Given the description of an element on the screen output the (x, y) to click on. 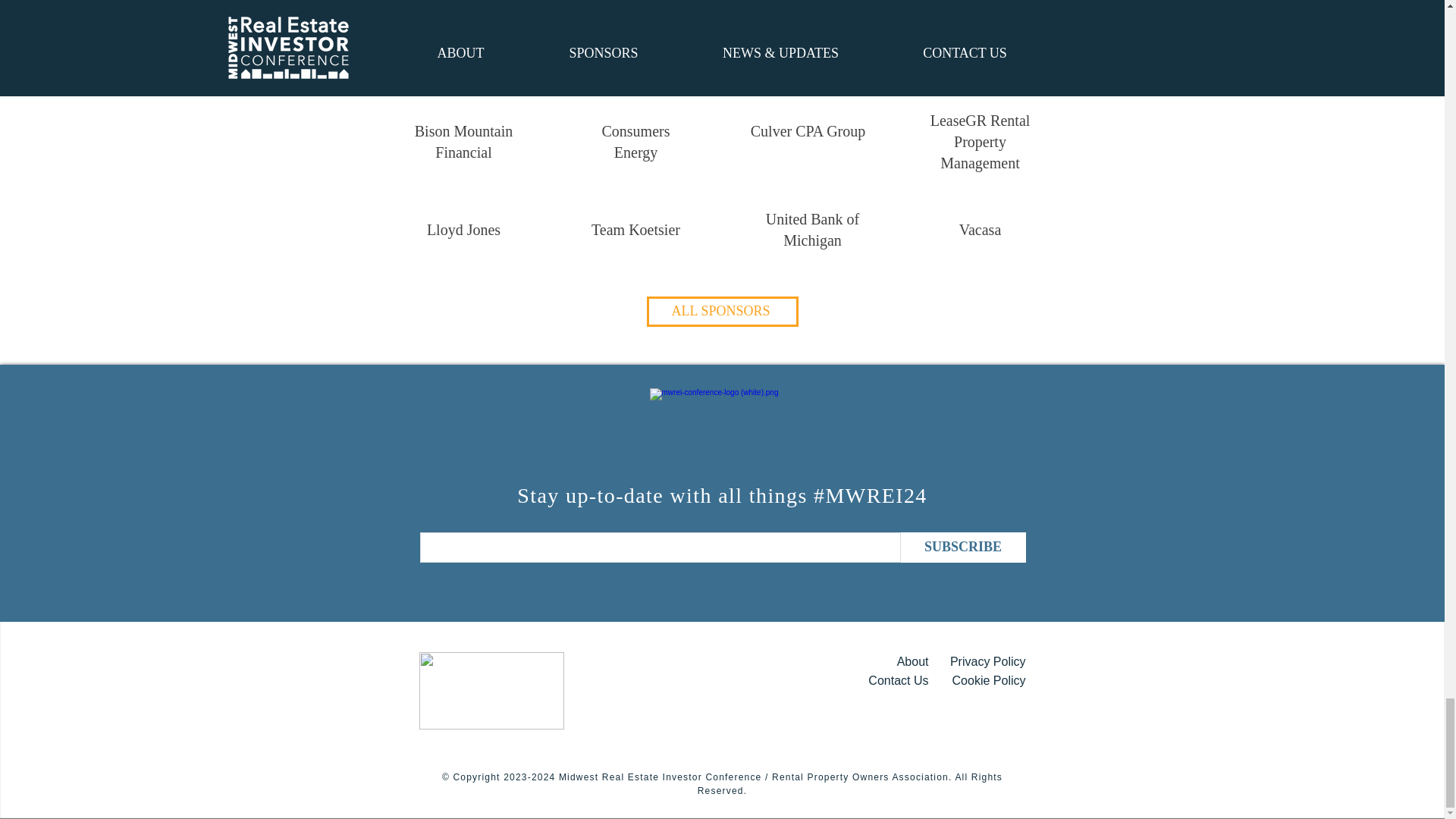
Culver CPA Group (808, 130)
United Bank of Michigan (812, 229)
Contact Us (897, 680)
Vacasa (980, 229)
Team Koetsier (635, 229)
Cookie Policy (989, 680)
About (912, 661)
Bison Mountain Financial (463, 141)
Consumers Energy (635, 141)
ALL SPONSORS (721, 311)
Lloyd Jones (463, 229)
Privacy Policy (988, 661)
SUBSCRIBE (963, 547)
LeaseGR Rental Property Management (980, 141)
